Given the description of an element on the screen output the (x, y) to click on. 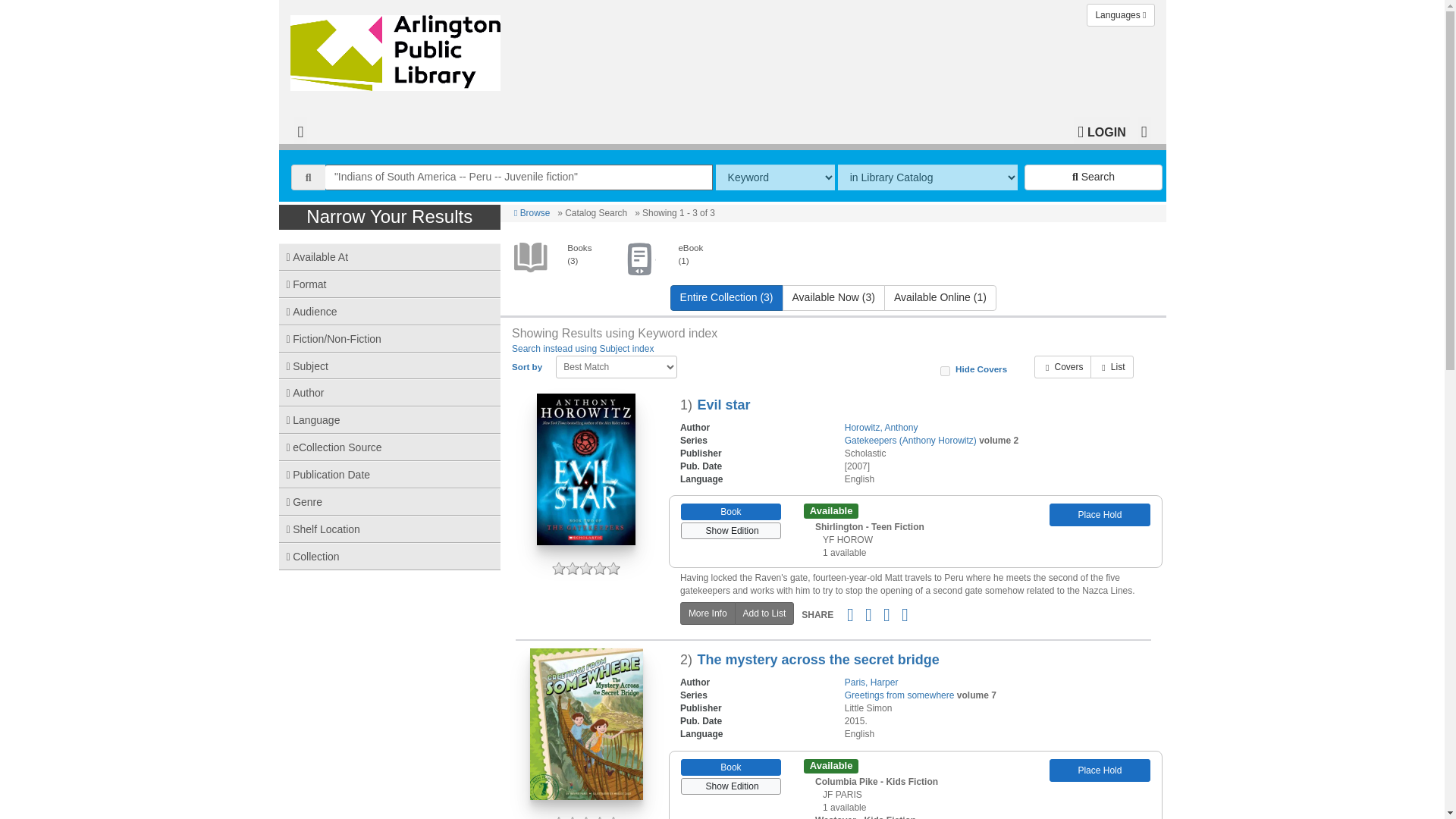
Login (1101, 130)
 Search (1093, 177)
"Indians of South America -- Peru -- Juvenile fiction" (518, 177)
LOGIN (1101, 130)
Languages  (1120, 15)
Library Home Page (397, 48)
on (945, 370)
The method of searching. (775, 177)
